Given the description of an element on the screen output the (x, y) to click on. 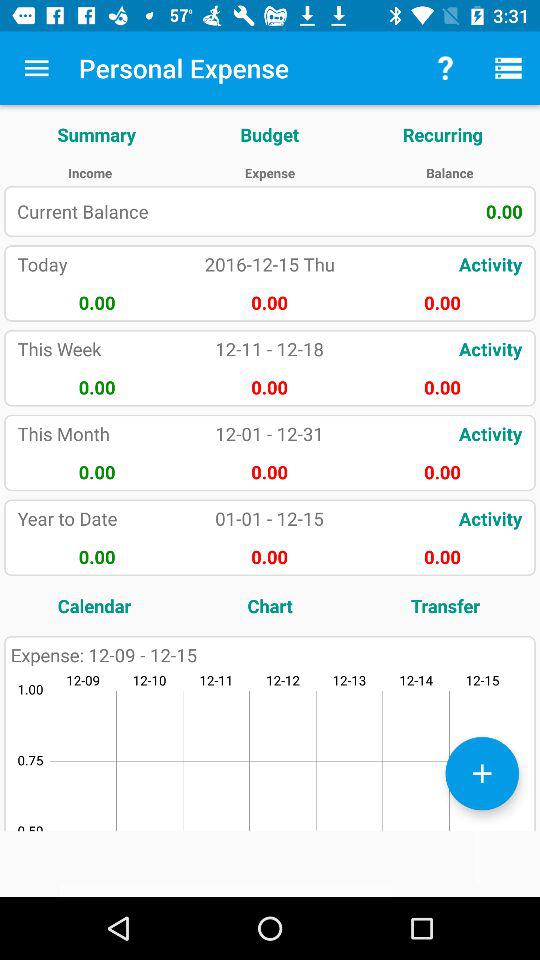
add more elements (482, 773)
